Given the description of an element on the screen output the (x, y) to click on. 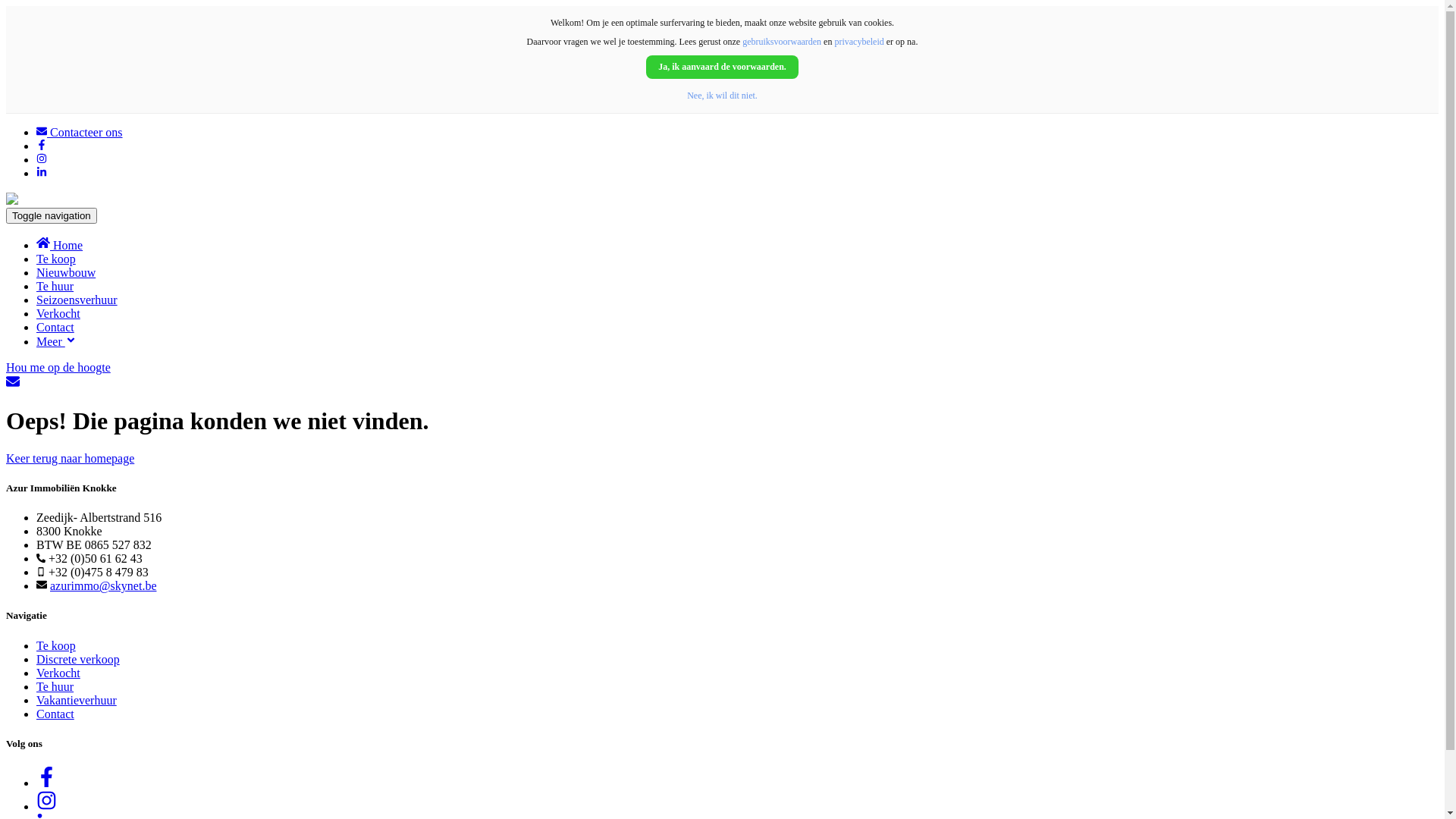
Meer Element type: text (56, 341)
Te koop Element type: text (55, 645)
Keer terug naar homepage Element type: text (70, 457)
Te huur Element type: text (54, 686)
Discrete verkoop Element type: text (77, 658)
Toggle navigation Element type: text (51, 215)
Vakantieverhuur Element type: text (76, 699)
Verkocht Element type: text (58, 313)
Ja, ik aanvaard de voorwaarden. Element type: text (722, 66)
Te huur Element type: text (54, 285)
Contact Element type: text (55, 713)
privacybeleid Element type: text (858, 41)
azurimmo@skynet.be Element type: text (103, 585)
Nieuwbouw Element type: text (65, 272)
Seizoensverhuur Element type: text (76, 299)
Home Element type: text (59, 244)
Te koop Element type: text (55, 258)
Hou me op de hoogte Element type: text (722, 375)
Verkocht Element type: text (58, 672)
Nee, ik wil dit niet. Element type: text (722, 95)
Contacteer ons Element type: text (79, 131)
Contact Element type: text (55, 326)
gebruiksvoorwaarden Element type: text (781, 41)
